Given the description of an element on the screen output the (x, y) to click on. 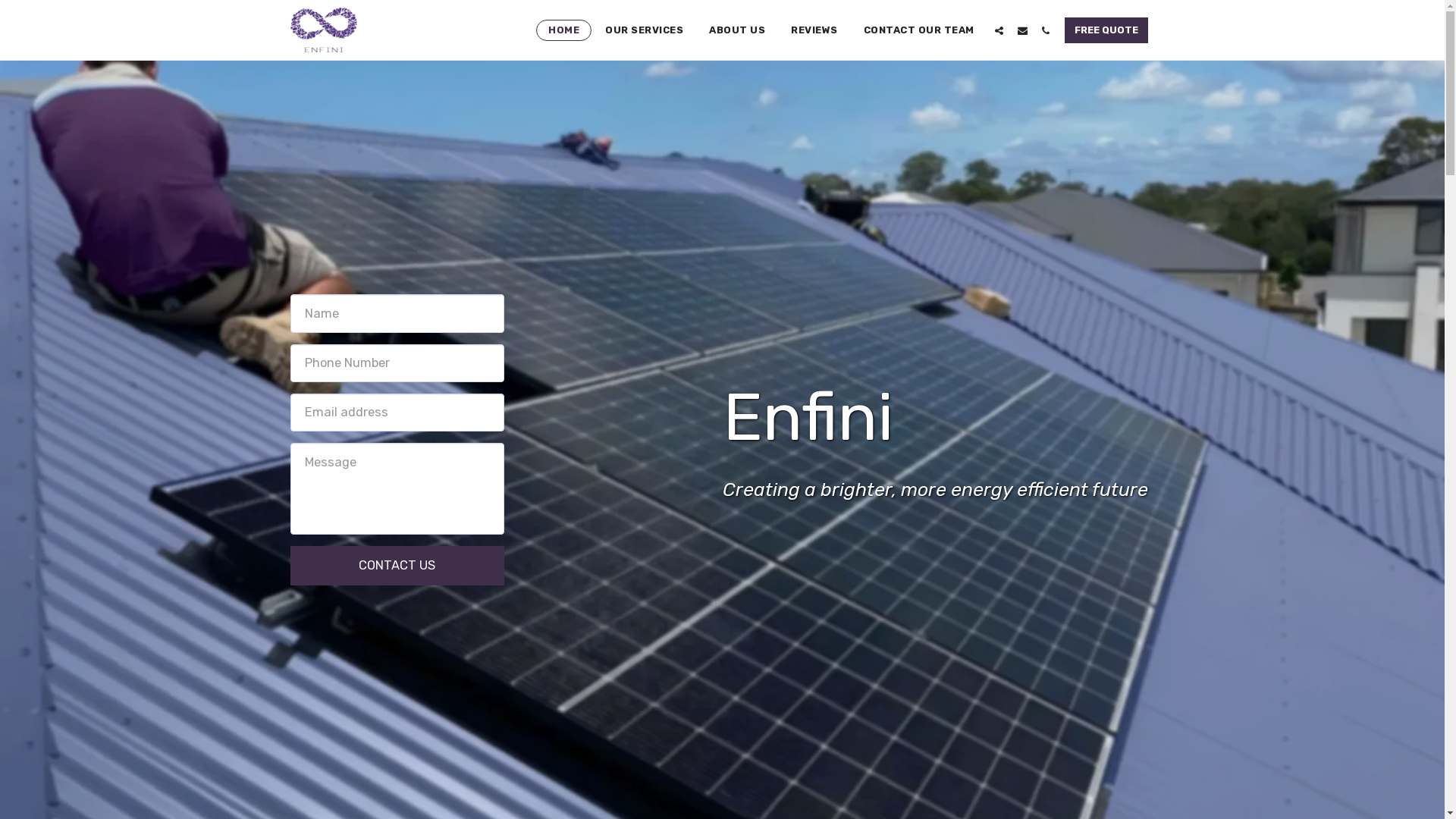
FREE QUOTE Element type: text (1106, 30)
CONTACT OUR TEAM Element type: text (917, 29)
  Element type: text (998, 29)
CONTACT US Element type: text (396, 565)
ABOUT US Element type: text (736, 29)
REVIEWS Element type: text (814, 29)
FREE QUOTE Element type: text (1106, 29)
HOME Element type: text (563, 29)
  Element type: text (1022, 29)
  Element type: text (1045, 29)
OUR SERVICES Element type: text (644, 29)
